Given the description of an element on the screen output the (x, y) to click on. 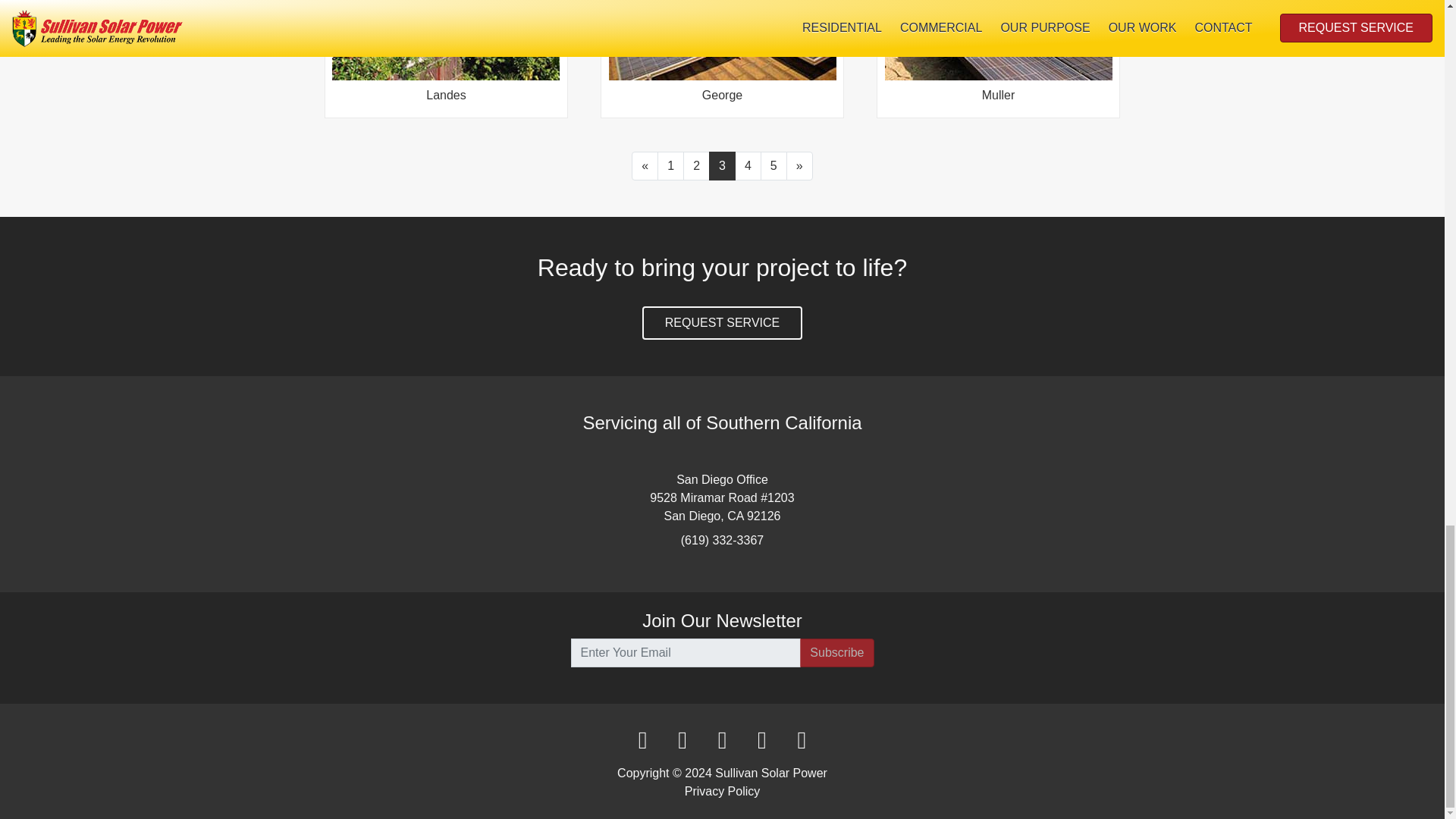
George (721, 55)
Landes (445, 55)
Muller (998, 55)
